Given the description of an element on the screen output the (x, y) to click on. 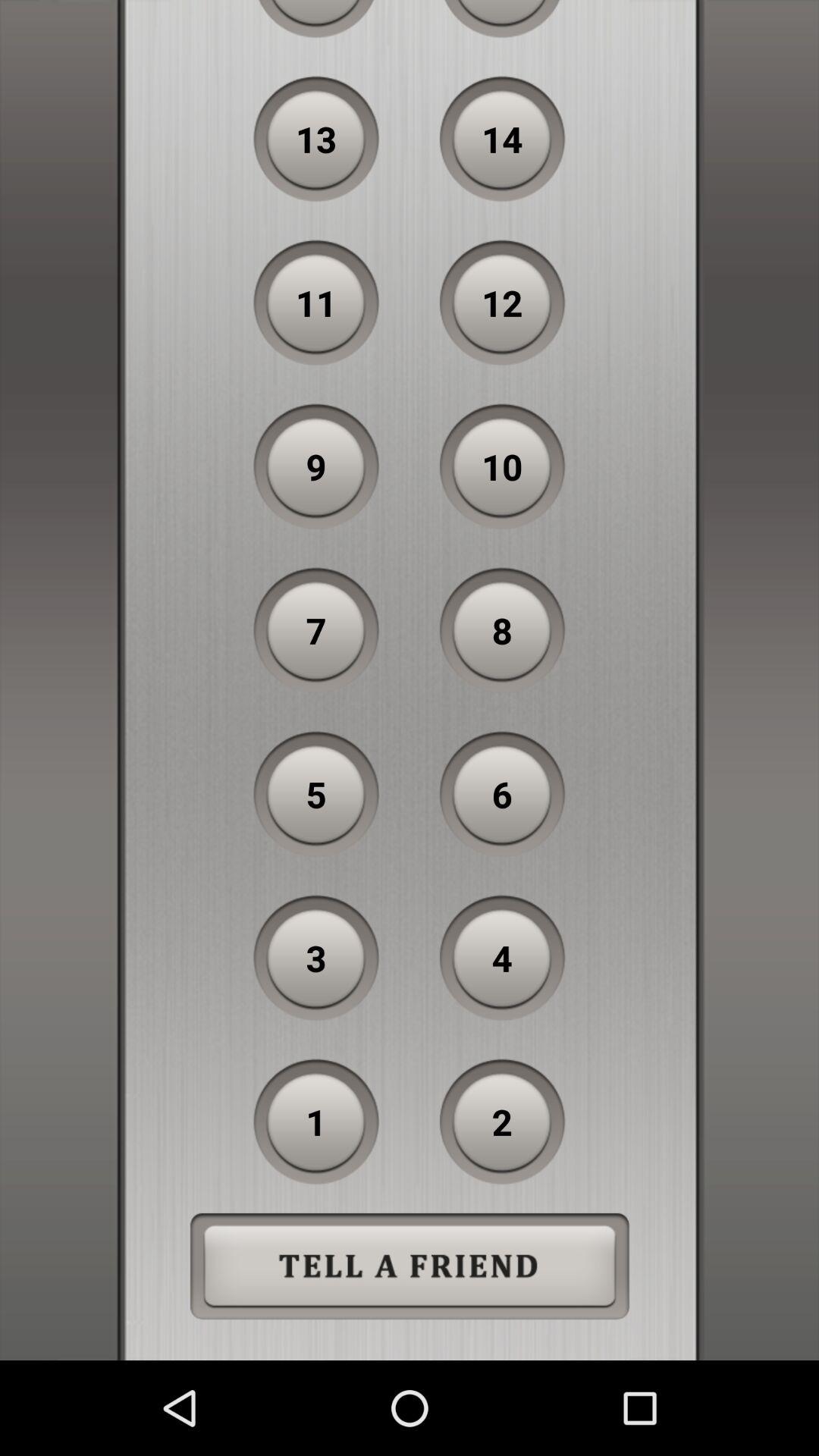
jump until 3 icon (316, 957)
